Given the description of an element on the screen output the (x, y) to click on. 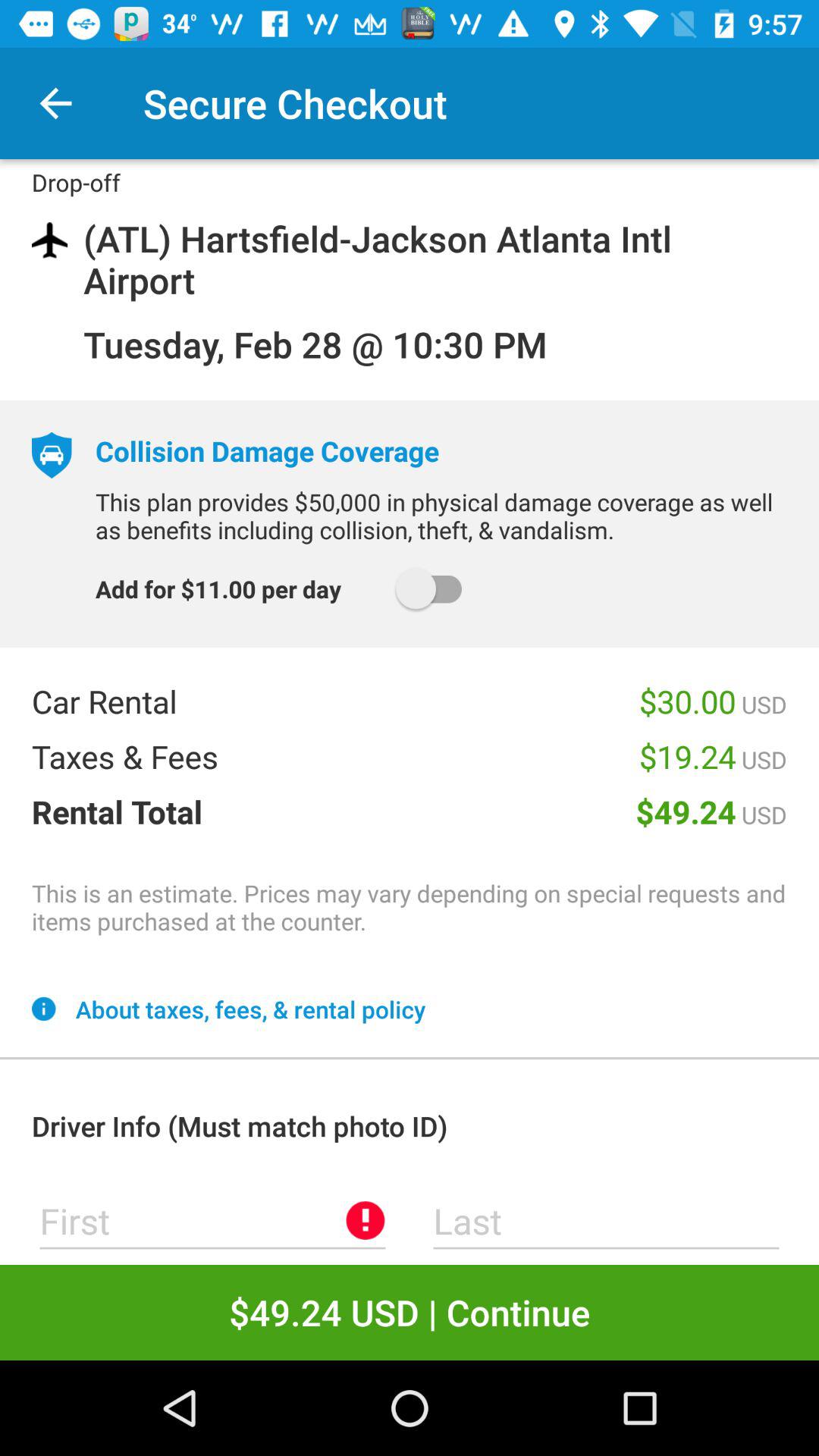
enter your last name (606, 1220)
